Given the description of an element on the screen output the (x, y) to click on. 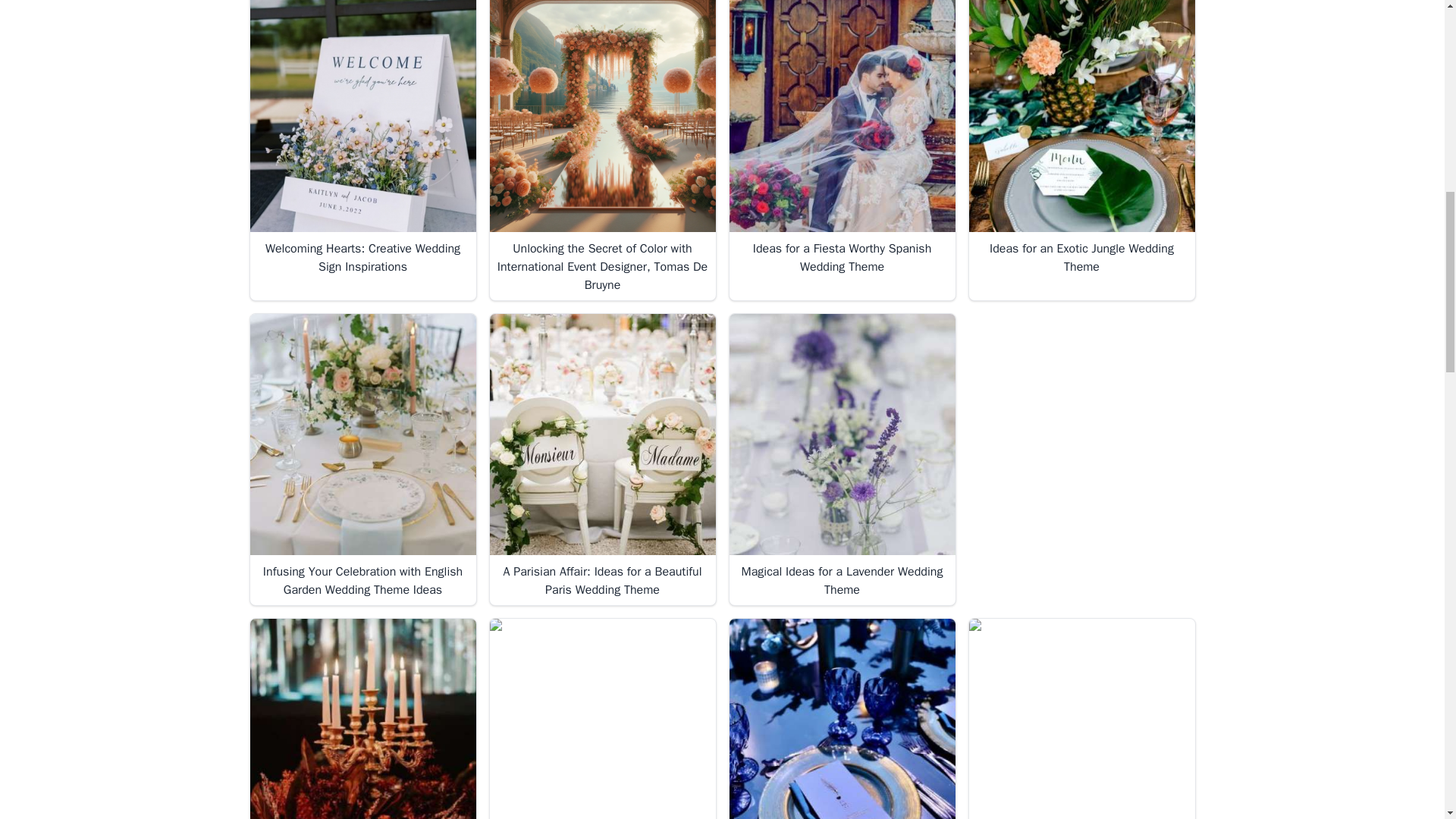
Christmas Wedding Color Schemes That Dazzle (362, 718)
Christmas Wedding Color Schemes That Dazzle (363, 719)
The Enchanting World of Blue Winter Wedding Themes (841, 718)
Welcoming Hearts: Creative Wedding Sign Inspirations (363, 116)
Charming Rustic Winter Wedding Decor Ideas (1082, 719)
Charming Rustic Winter Wedding Decor Ideas (1081, 718)
Ideas for a Rustic Christmas Wedding Wonderland (601, 718)
